Given the description of an element on the screen output the (x, y) to click on. 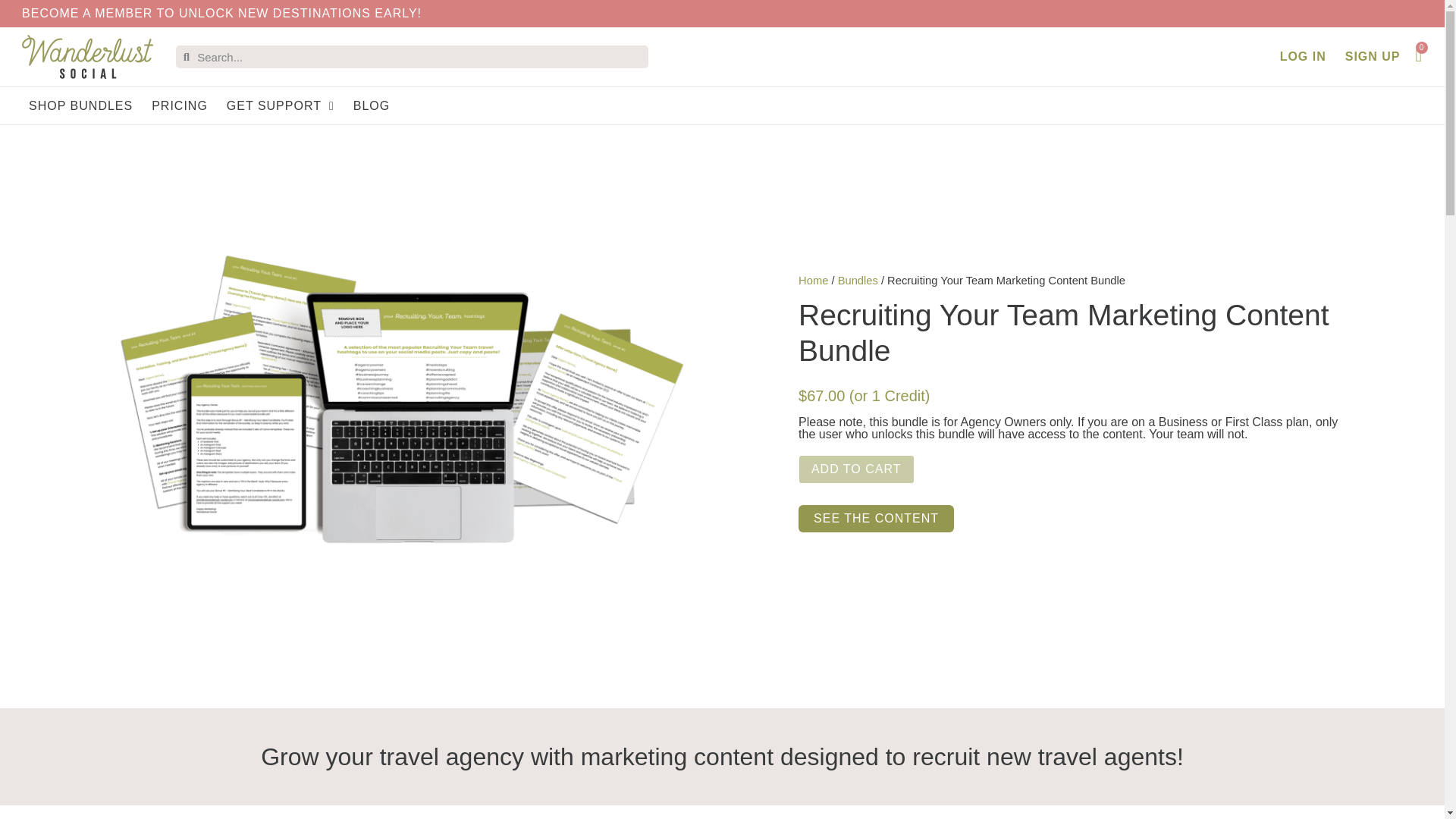
GET SUPPORT (280, 105)
BECOME A MEMBER TO UNLOCK NEW DESTINATIONS EARLY! (221, 12)
Home (812, 280)
SIGN UP (1372, 56)
BLOG (371, 105)
Bundles (857, 280)
PRICING (179, 105)
SHOP BUNDLES (80, 105)
LOG IN (1302, 56)
